Given the description of an element on the screen output the (x, y) to click on. 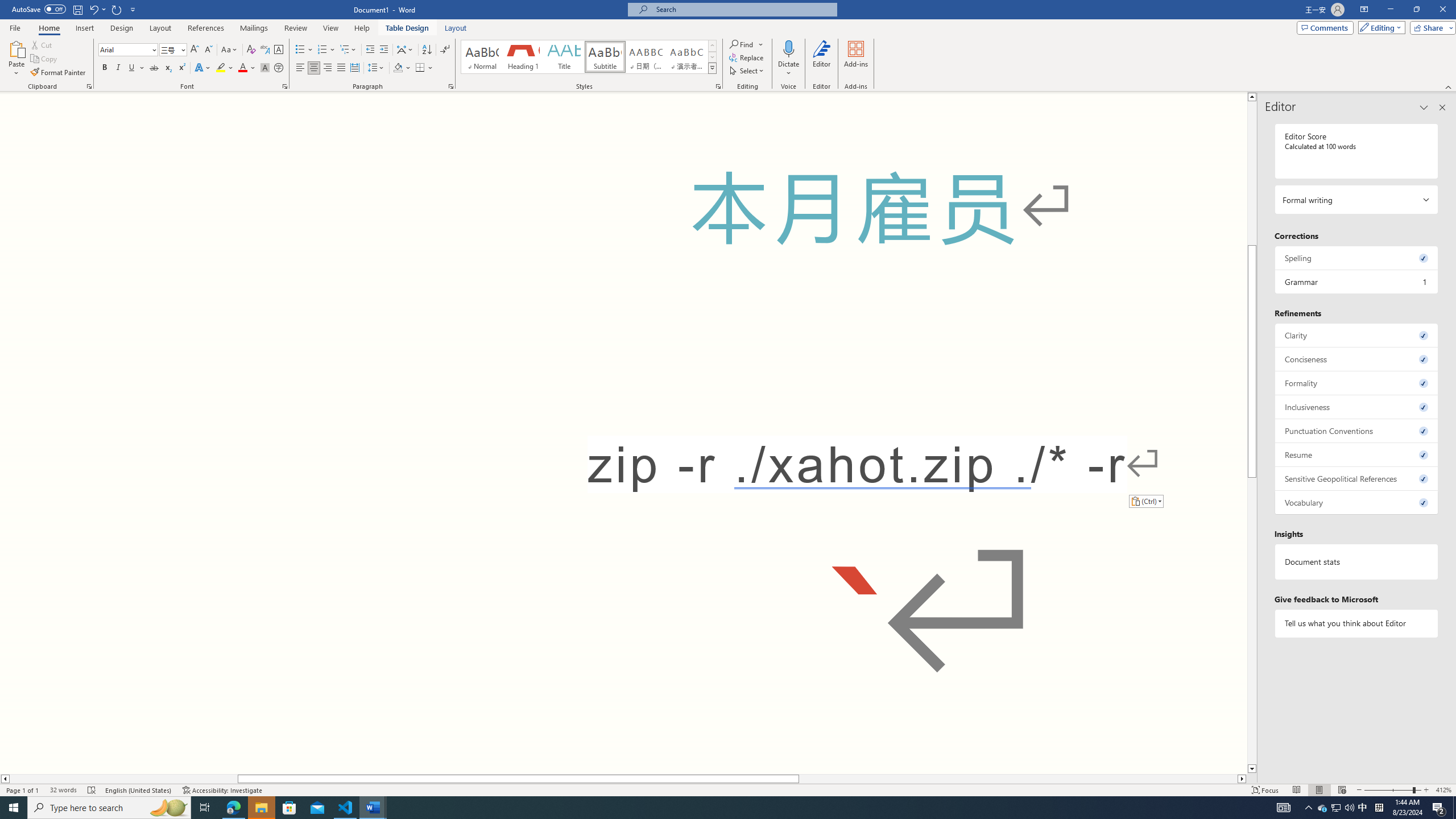
Zoom (1392, 790)
Column left (5, 778)
Undo Paste (92, 9)
Cut (42, 44)
Column right (1242, 778)
Class: MsoCommandBar (728, 45)
Justify (340, 67)
